Given the description of an element on the screen output the (x, y) to click on. 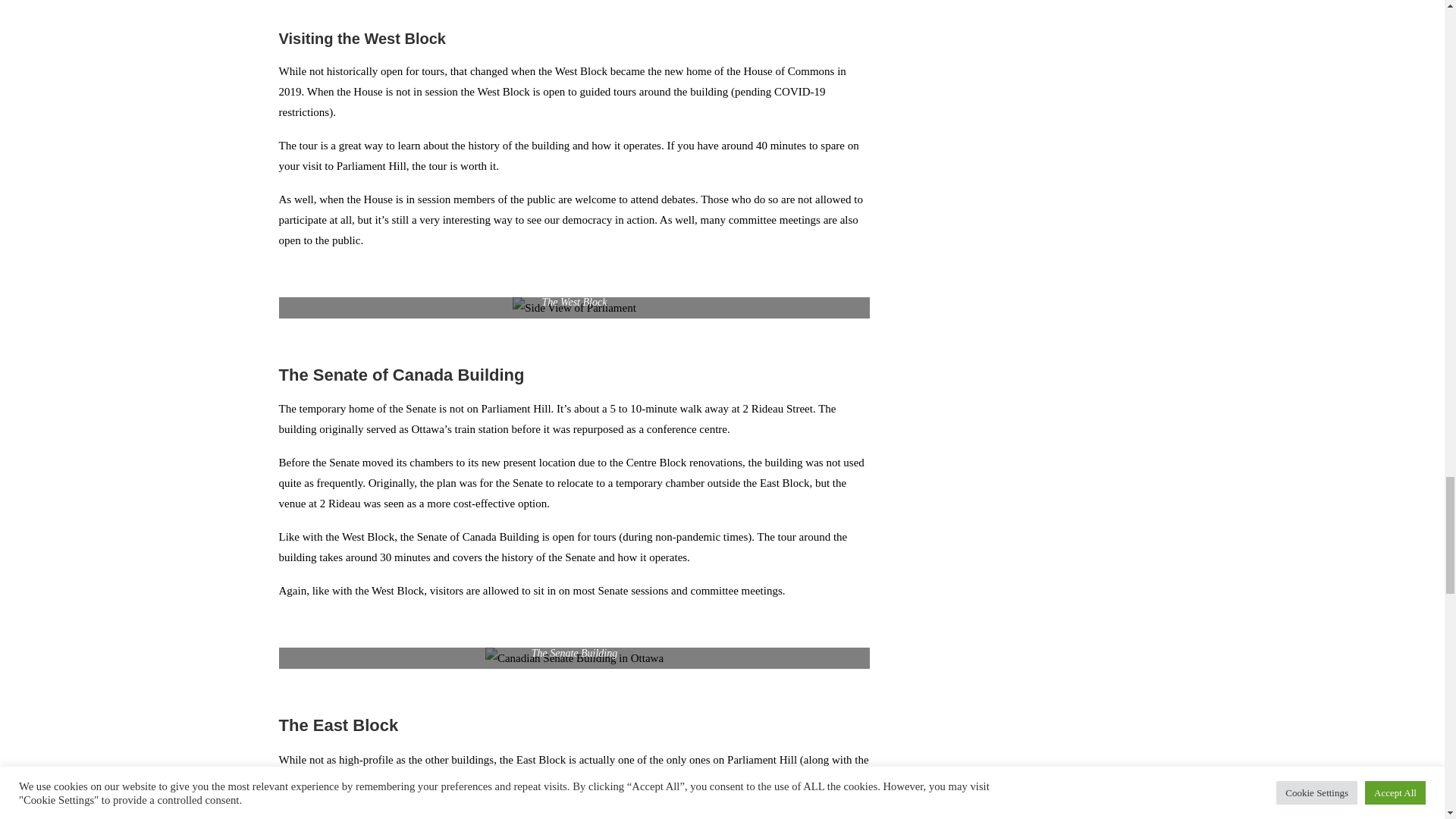
Side View of Parliament (574, 307)
Canadian Senate Building in Ottawa (573, 658)
